Given the description of an element on the screen output the (x, y) to click on. 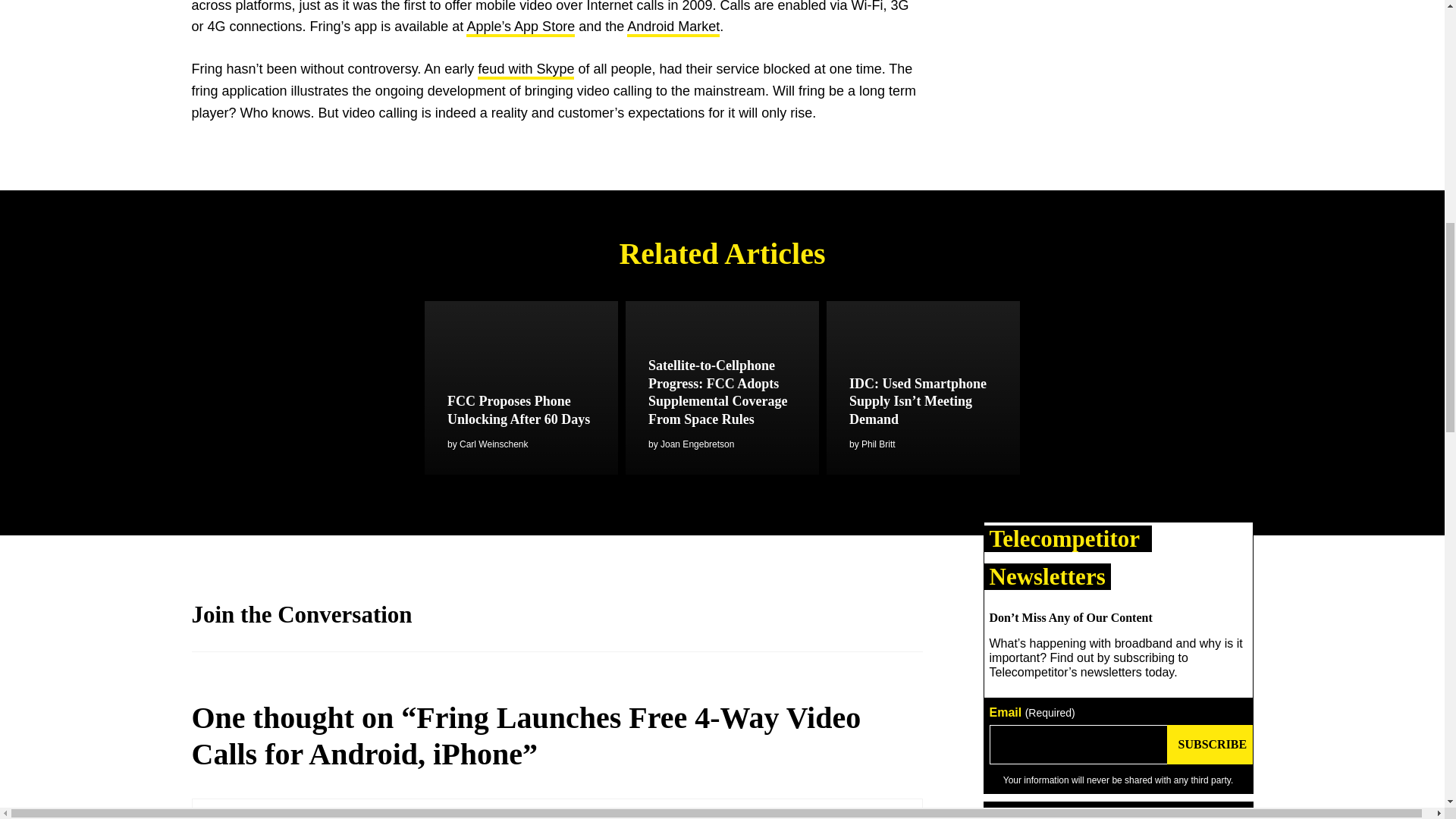
feud with Skype (525, 70)
Apple's App Store (520, 27)
Android Market (673, 27)
